Given the description of an element on the screen output the (x, y) to click on. 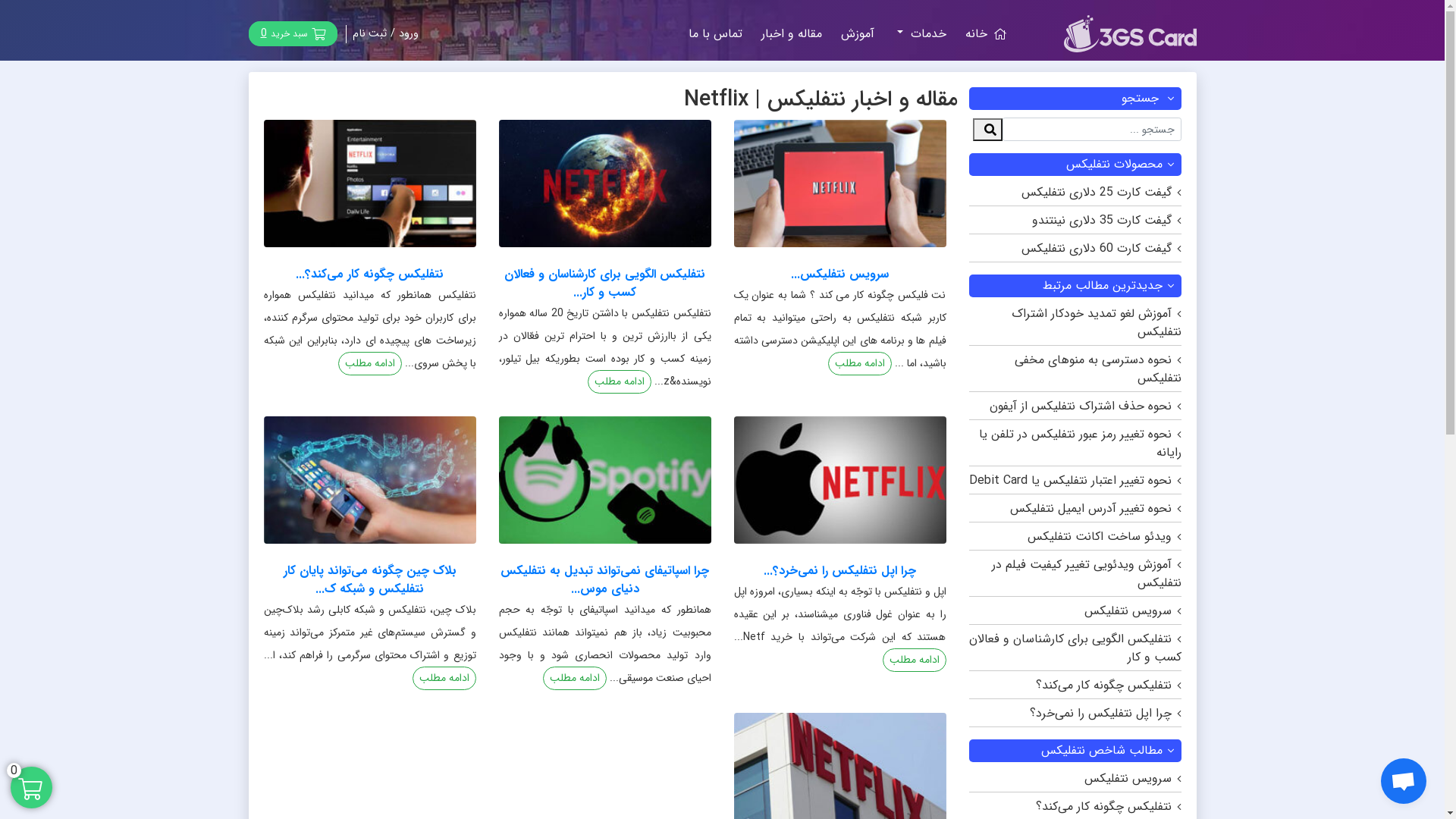
0 Element type: text (31, 787)
3gscard Element type: hover (1129, 42)
